Given the description of an element on the screen output the (x, y) to click on. 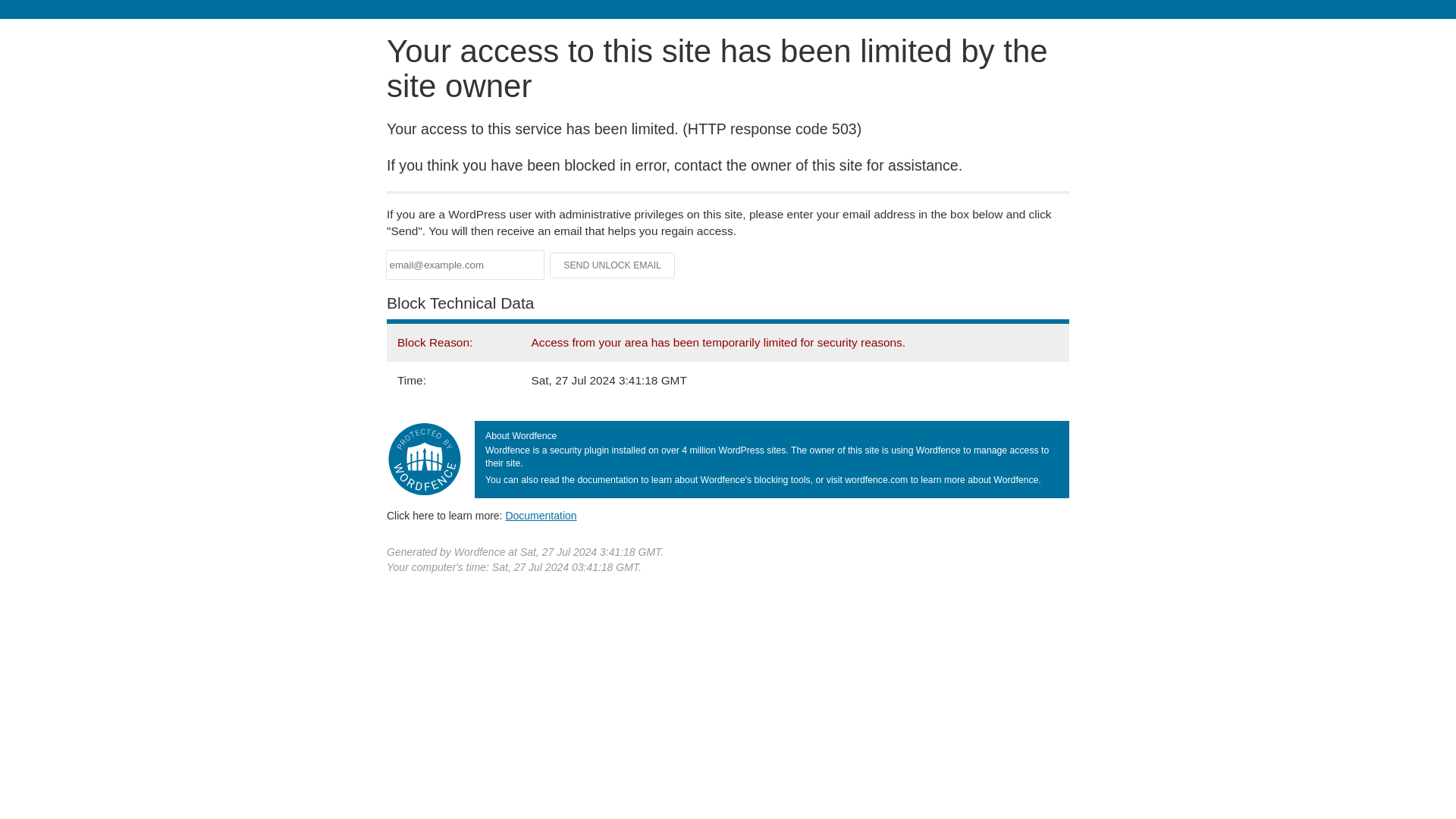
Send Unlock Email (612, 265)
Documentation (540, 515)
Send Unlock Email (612, 265)
